Given the description of an element on the screen output the (x, y) to click on. 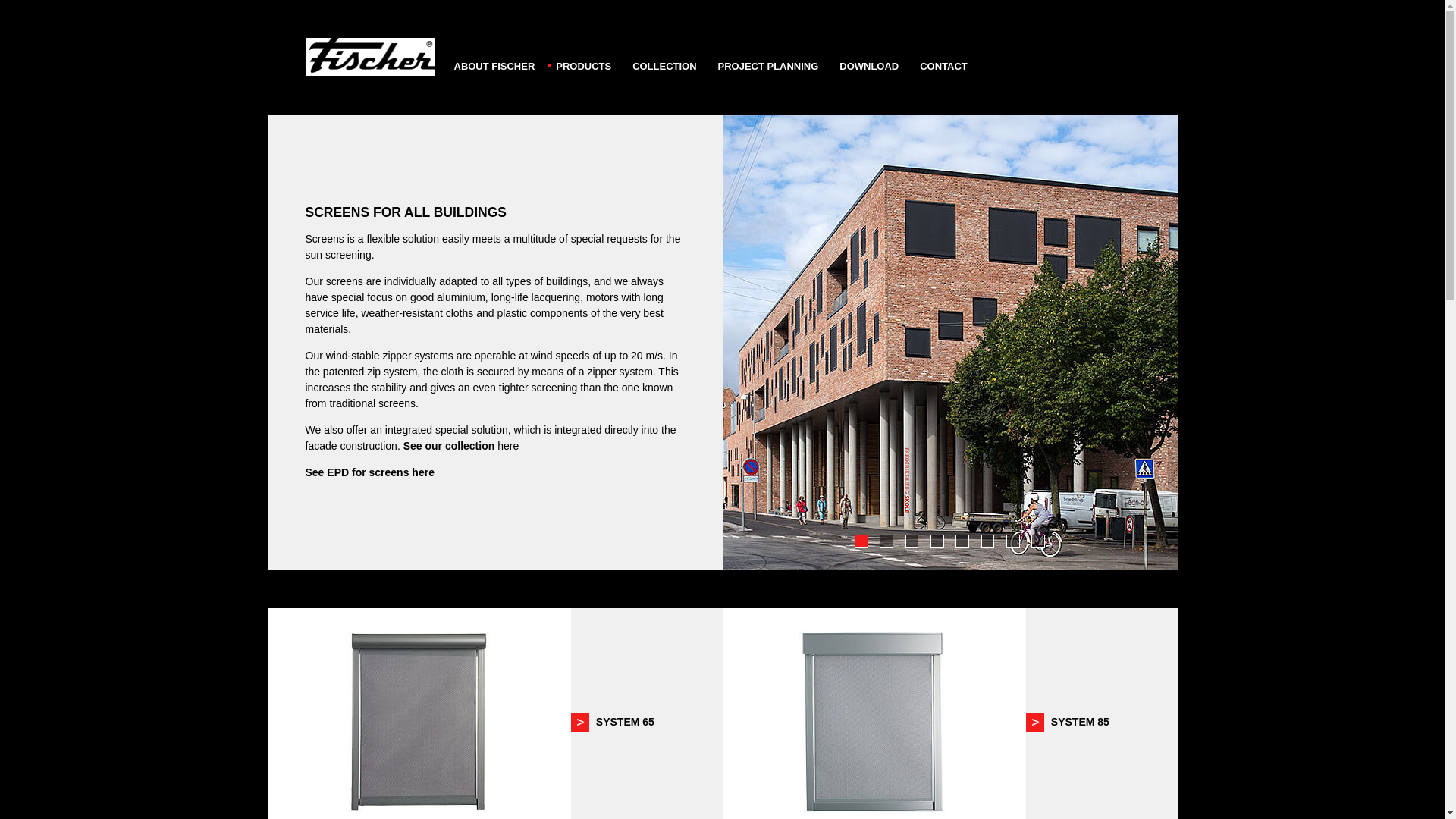
PRODUCTS (582, 55)
ABOUT FISCHER (493, 55)
CONTACT (943, 55)
here (422, 472)
COLLECTION (663, 55)
here (507, 445)
PROJECT PLANNING (768, 55)
SYSTEM 65 (624, 721)
DOWNLOAD (868, 55)
